Given the description of an element on the screen output the (x, y) to click on. 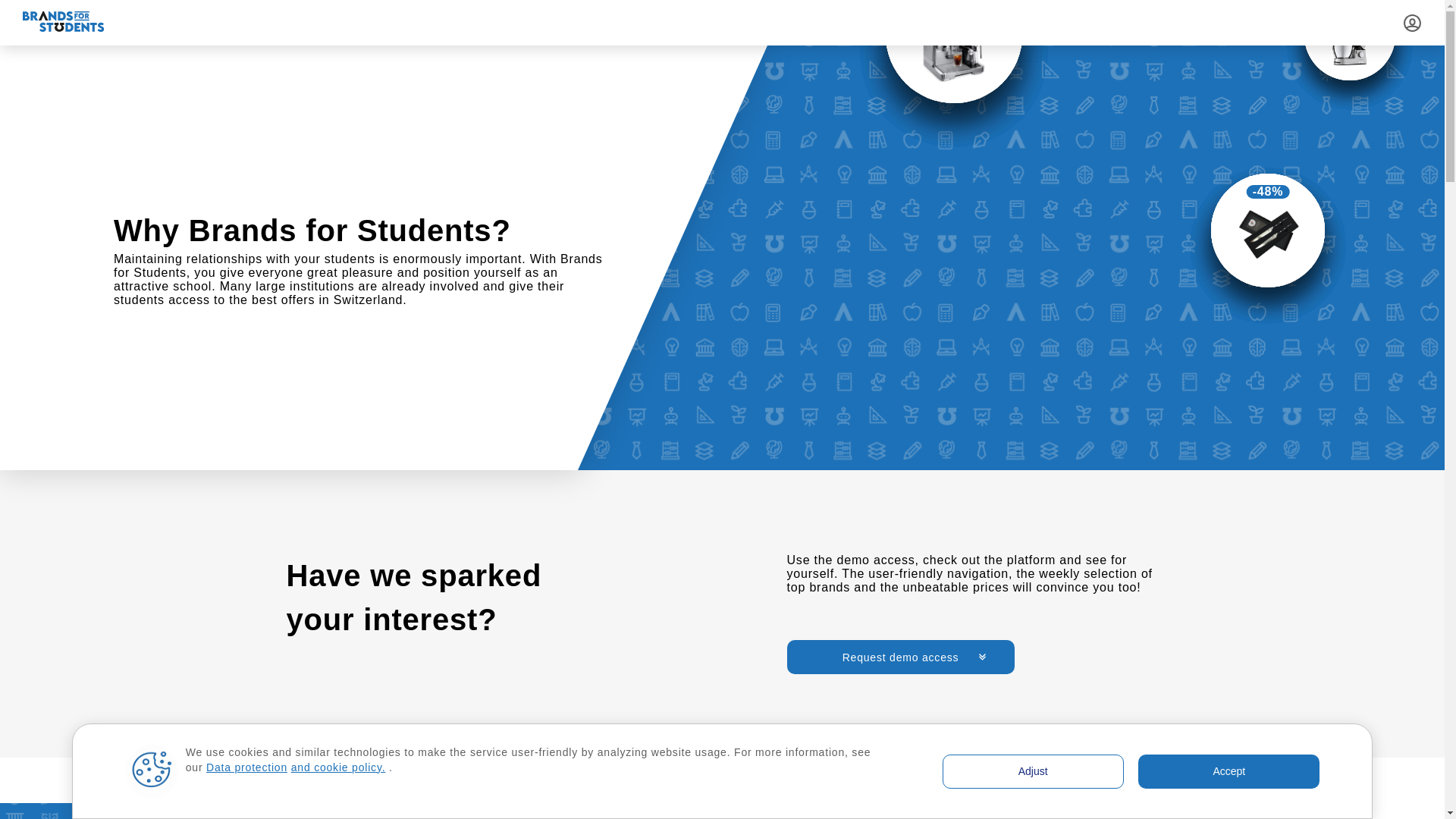
Adjust Element type: text (1032, 770)
Data protection Element type: text (246, 767)
and cookie policy. Element type: text (338, 767)
Request demo access Element type: text (900, 657)
Accept Element type: text (1228, 770)
